Given the description of an element on the screen output the (x, y) to click on. 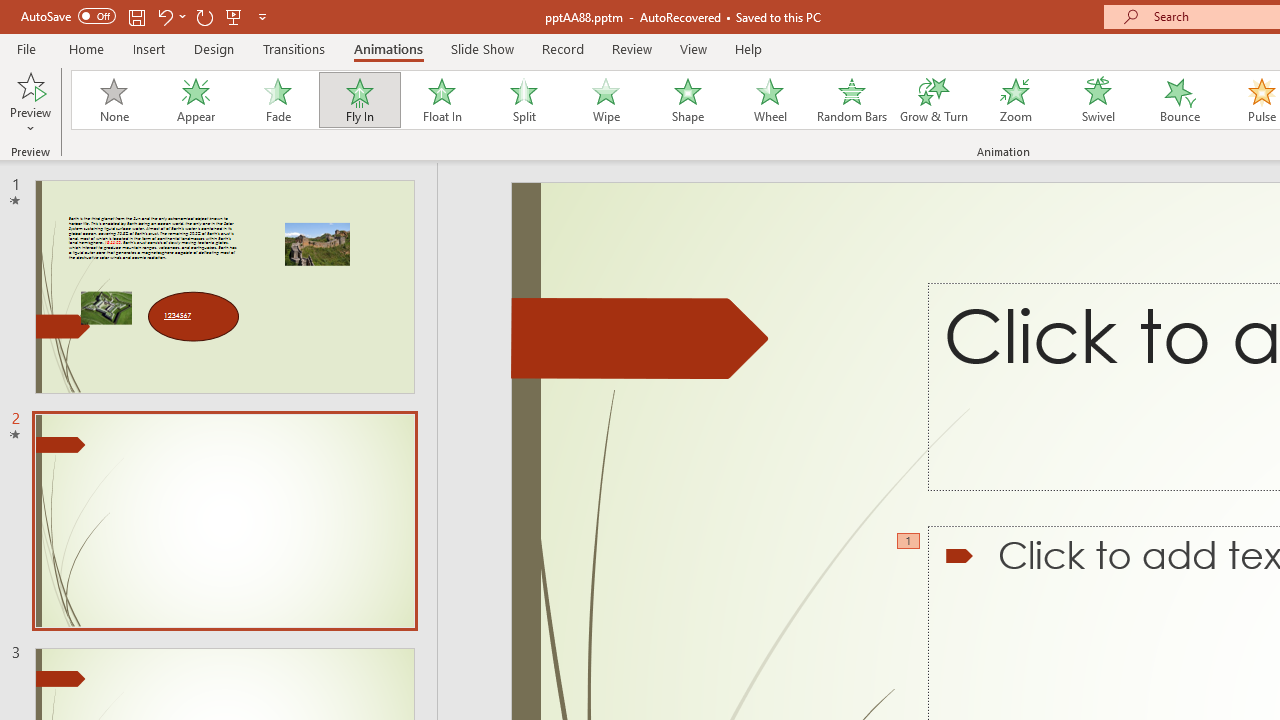
Wipe (605, 100)
Split (523, 100)
Bounce (1180, 100)
